Given the description of an element on the screen output the (x, y) to click on. 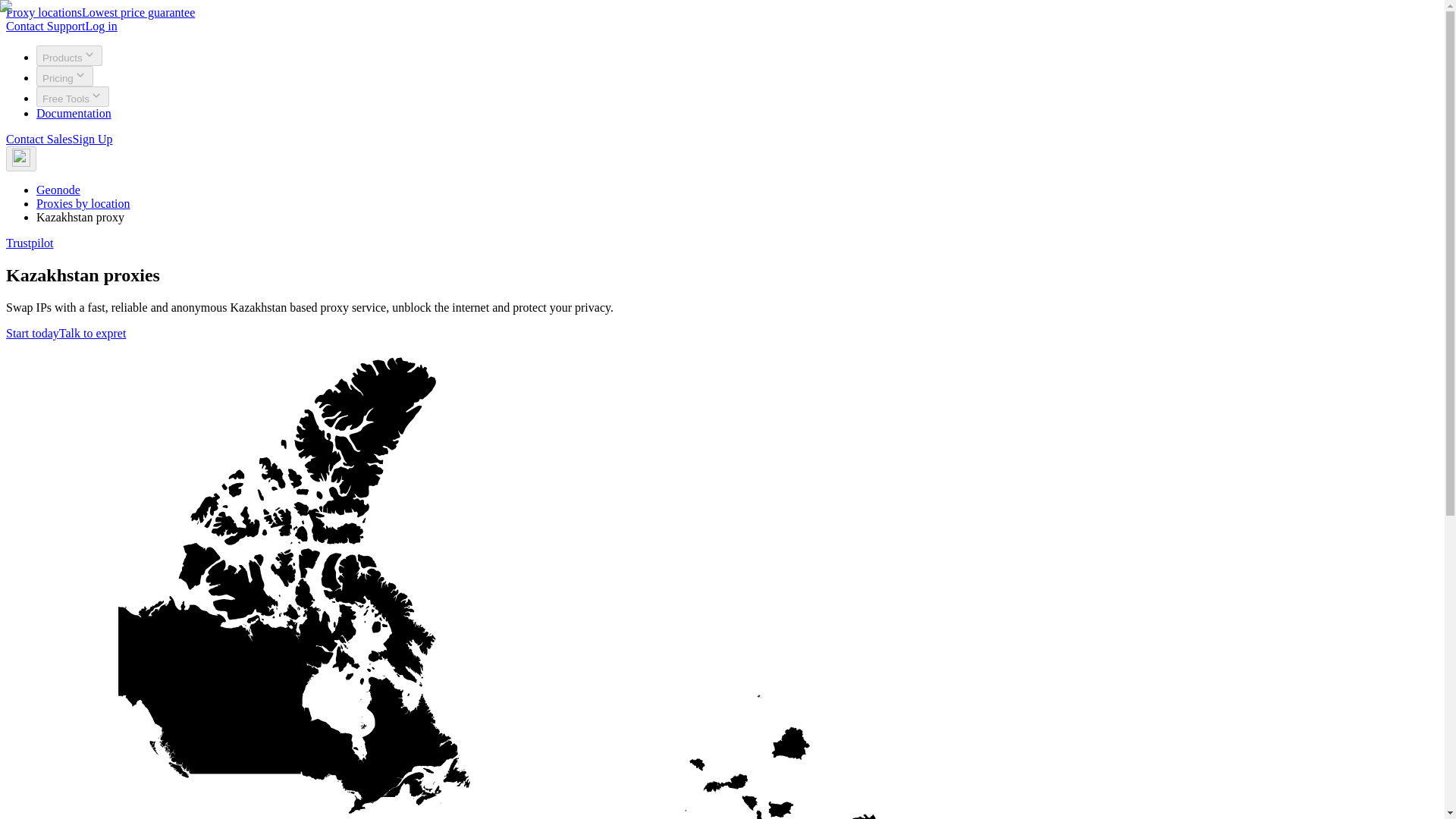
Log in (100, 25)
Talk to expret (92, 332)
Products (68, 55)
Documentation (74, 113)
Contact Sales (38, 138)
Start today (32, 332)
Trustpilot (29, 242)
Contact Support (44, 25)
Proxy locations (43, 11)
Proxies by location (83, 203)
Free Tools (72, 96)
Sign Up (92, 138)
Lowest price guarantee (138, 11)
Pricing (64, 76)
Geonode (58, 189)
